Given the description of an element on the screen output the (x, y) to click on. 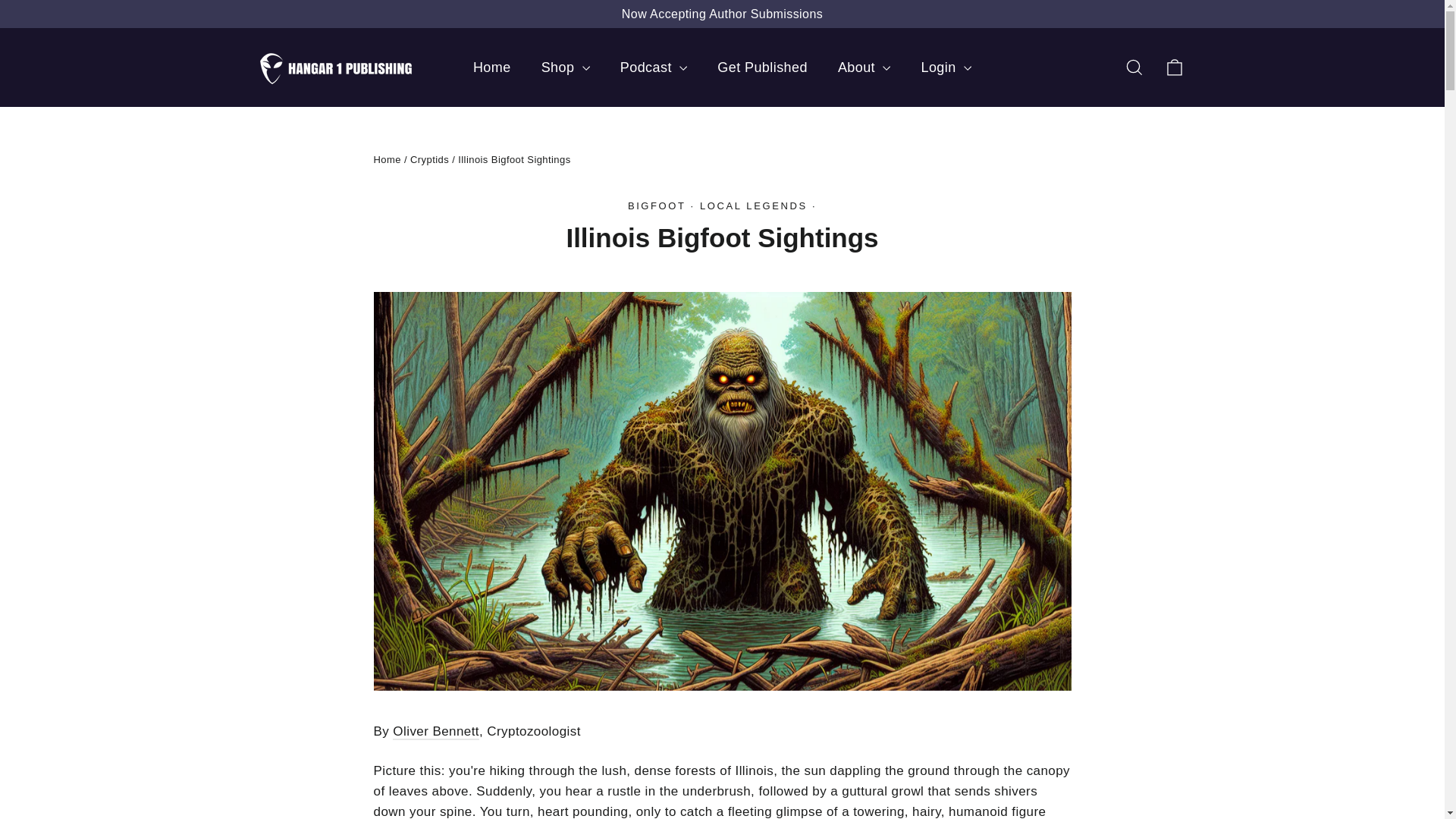
icon-bag-minimal (1174, 66)
icon-search (1134, 66)
Back to the frontpage (386, 159)
